Given the description of an element on the screen output the (x, y) to click on. 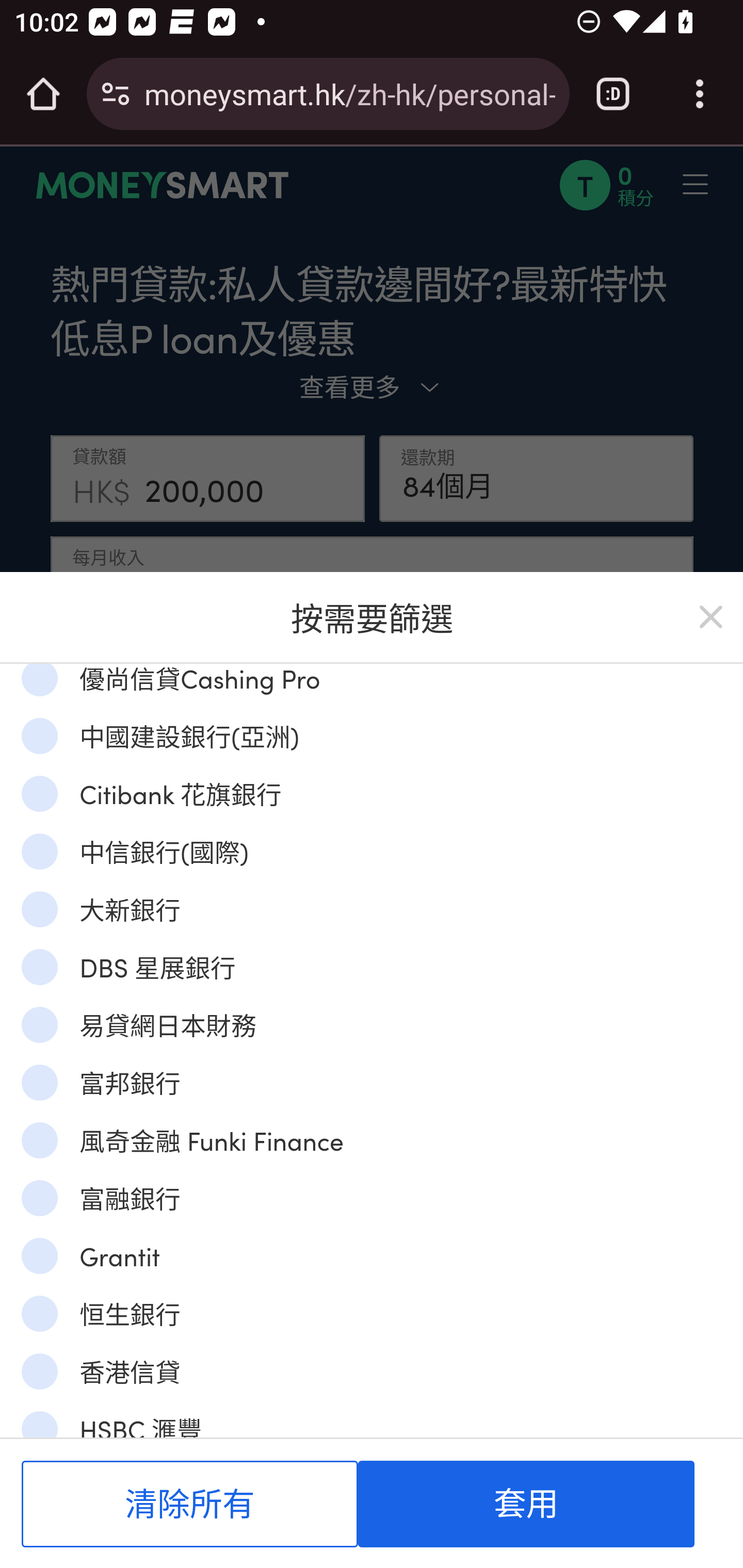
Open the home page (43, 93)
Connection is secure (115, 93)
Switch or close tabs (612, 93)
Customize and control Google Chrome (699, 93)
優尚信貸Cashing Pro (39, 678)
中國建設銀行(亞洲) (39, 735)
Citibank 花旗銀行 (39, 793)
中信銀行(國際) (39, 851)
大新銀行 (39, 908)
DBS 星展銀行 (39, 966)
易貸網日本財務 (39, 1023)
富邦銀行 (39, 1081)
風奇金融 Funki Finance (39, 1139)
富融銀行 (39, 1197)
Grantit (39, 1254)
恒生銀行 (39, 1312)
香港信貸 (39, 1370)
HSBC 滙豐 (39, 1423)
清除所有 (189, 1504)
套用 (525, 1504)
